Given the description of an element on the screen output the (x, y) to click on. 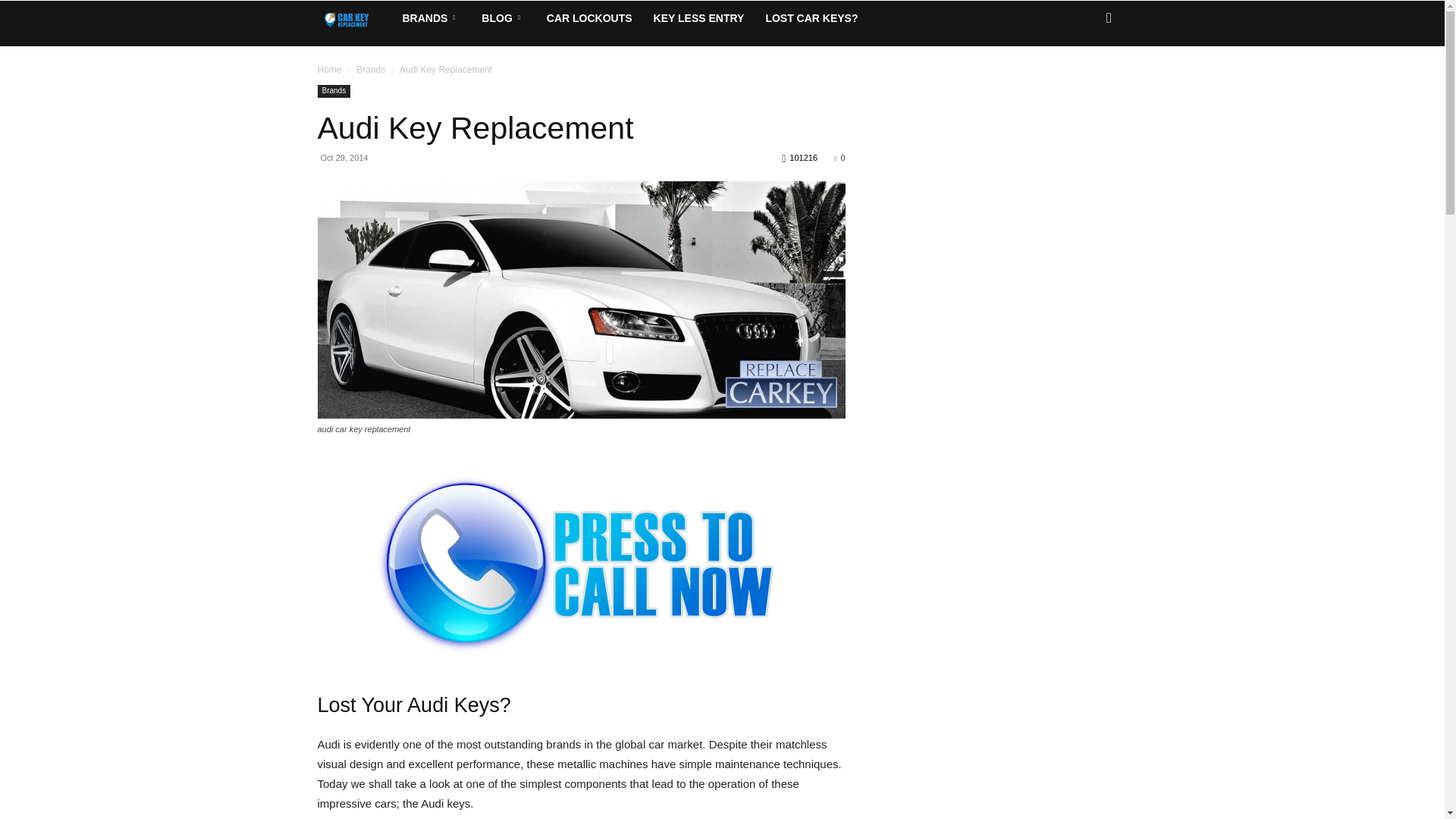
BRANDS (430, 18)
BLOG (502, 18)
LOST CAR KEYS? (810, 18)
KEY LESS ENTRY (699, 18)
Car Key Replacement (354, 18)
CAR LOCKOUTS (589, 18)
